Given the description of an element on the screen output the (x, y) to click on. 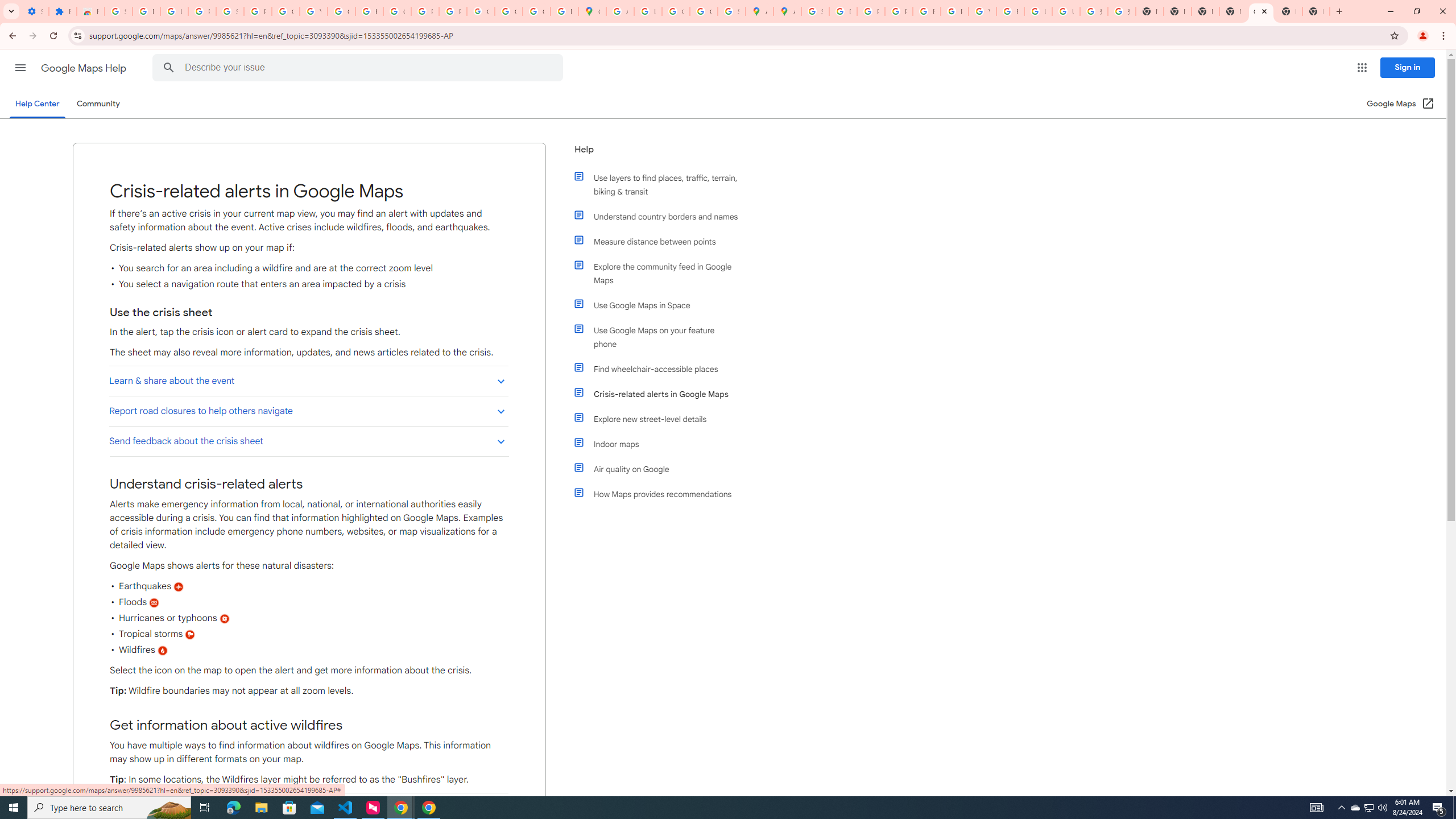
Learn & share about the event (308, 380)
Privacy Help Center - Policies Help (870, 11)
Google Maps Help (84, 68)
Google Account (285, 11)
New Tab (1288, 11)
